Given the description of an element on the screen output the (x, y) to click on. 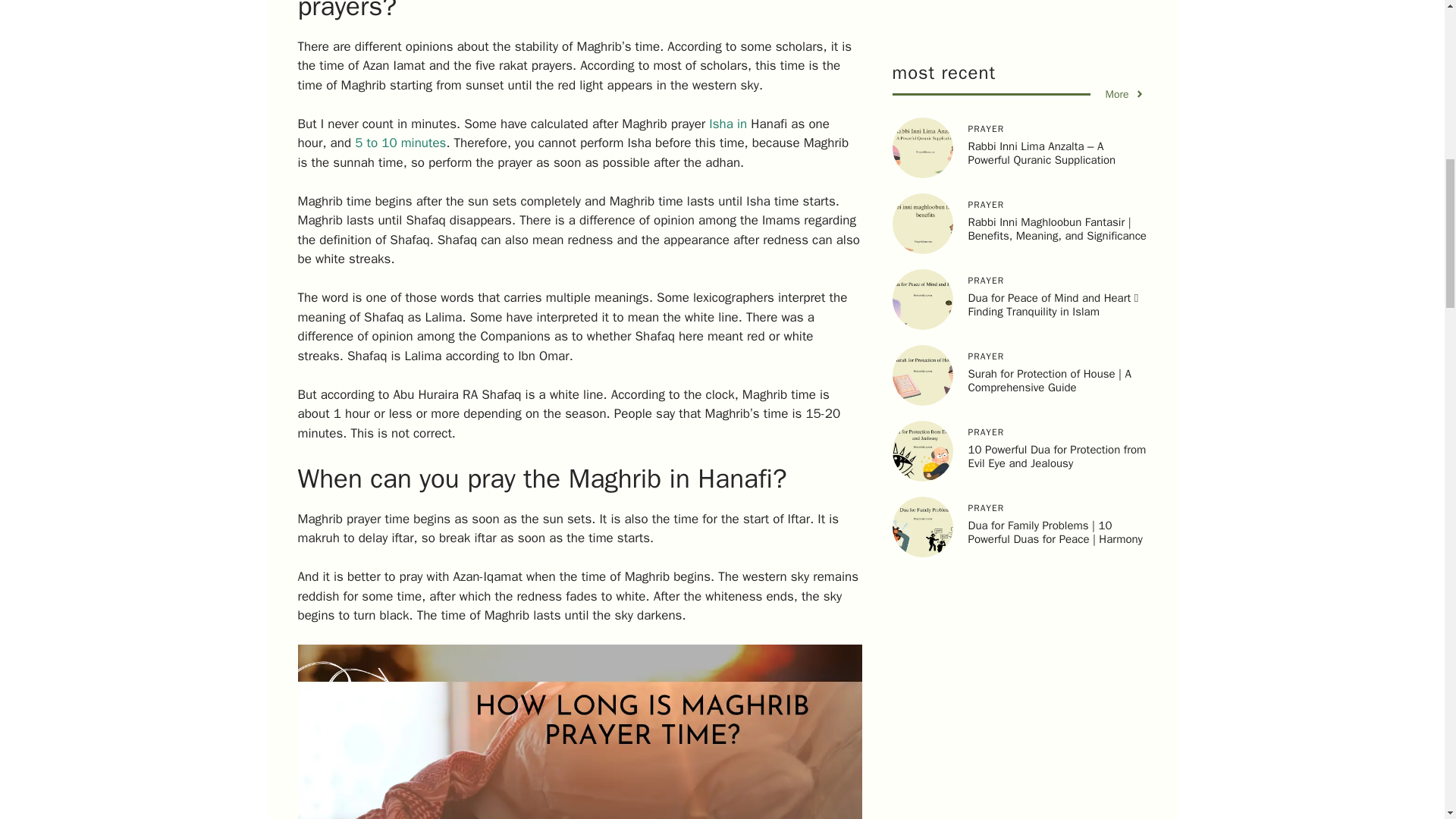
10 Powerful Dua for Protection from Evil Eye and Jealousy (1056, 95)
5 to 10 minutes (400, 142)
Isha in (727, 123)
